Given the description of an element on the screen output the (x, y) to click on. 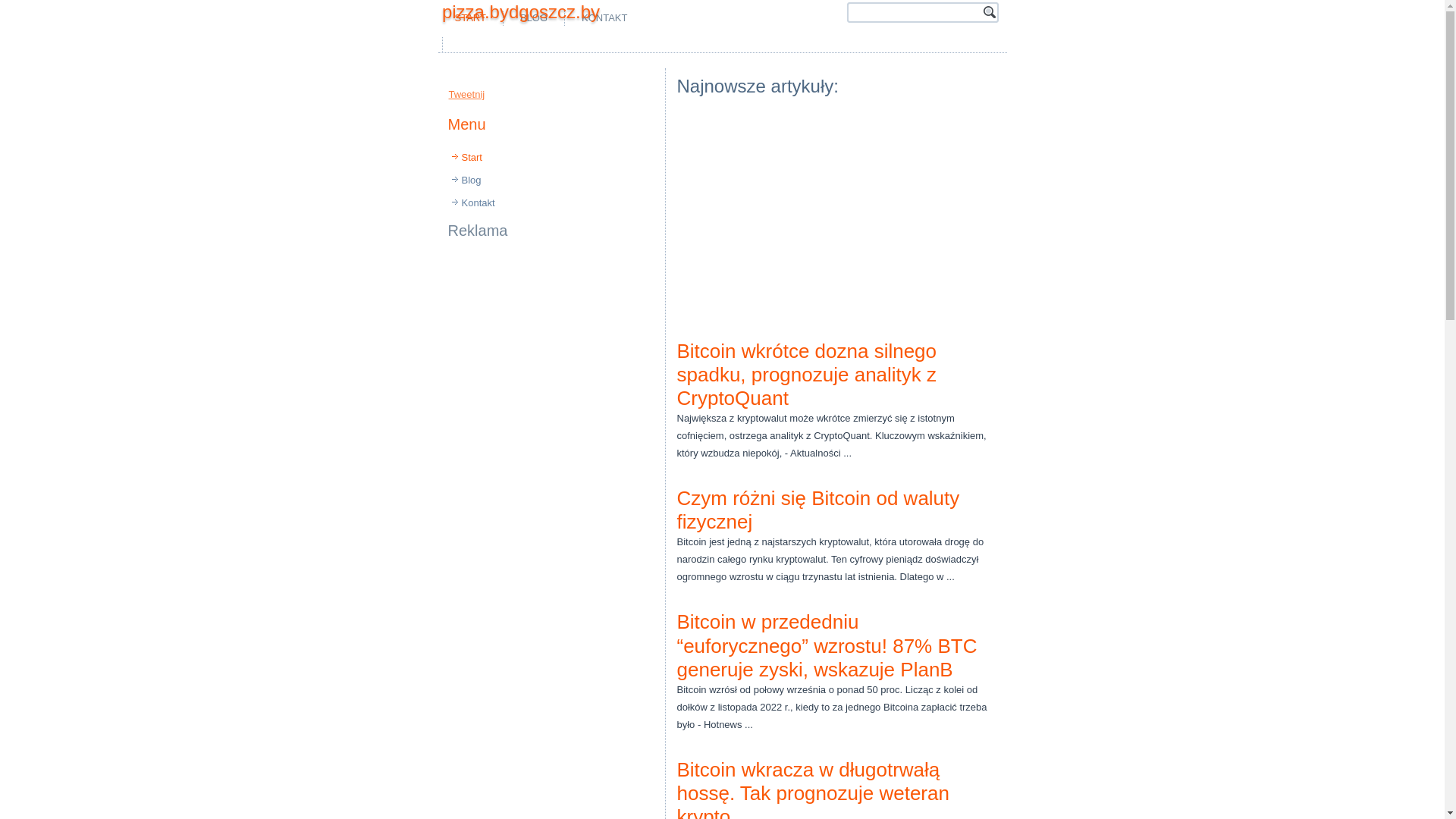
Tweetnij Element type: text (466, 94)
KONTAKT Element type: text (604, 18)
Blog Element type: text (550, 180)
Kontakt Element type: text (550, 202)
Start Element type: text (550, 157)
Advertisement Element type: hover (542, 344)
Advertisement Element type: hover (835, 217)
BLOG Element type: text (533, 18)
Advertisement Element type: hover (622, 44)
START Element type: text (469, 18)
Advertisement Element type: hover (722, 170)
pizza.bydgoszcz.by Element type: text (520, 11)
